Given the description of an element on the screen output the (x, y) to click on. 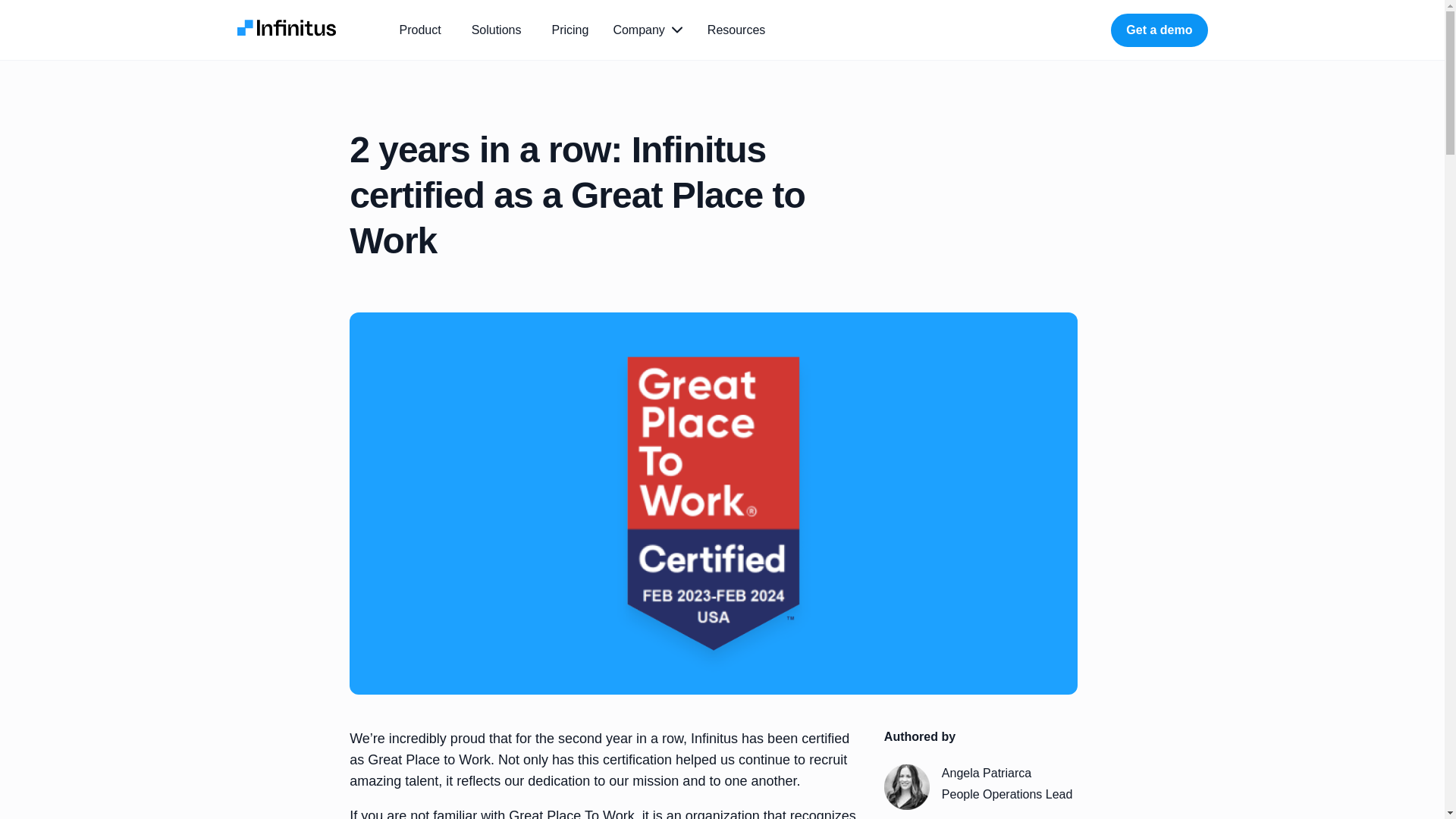
Solutions (499, 30)
Company (647, 30)
Resources (739, 30)
Product (422, 30)
Get a demo (1158, 29)
